Given the description of an element on the screen output the (x, y) to click on. 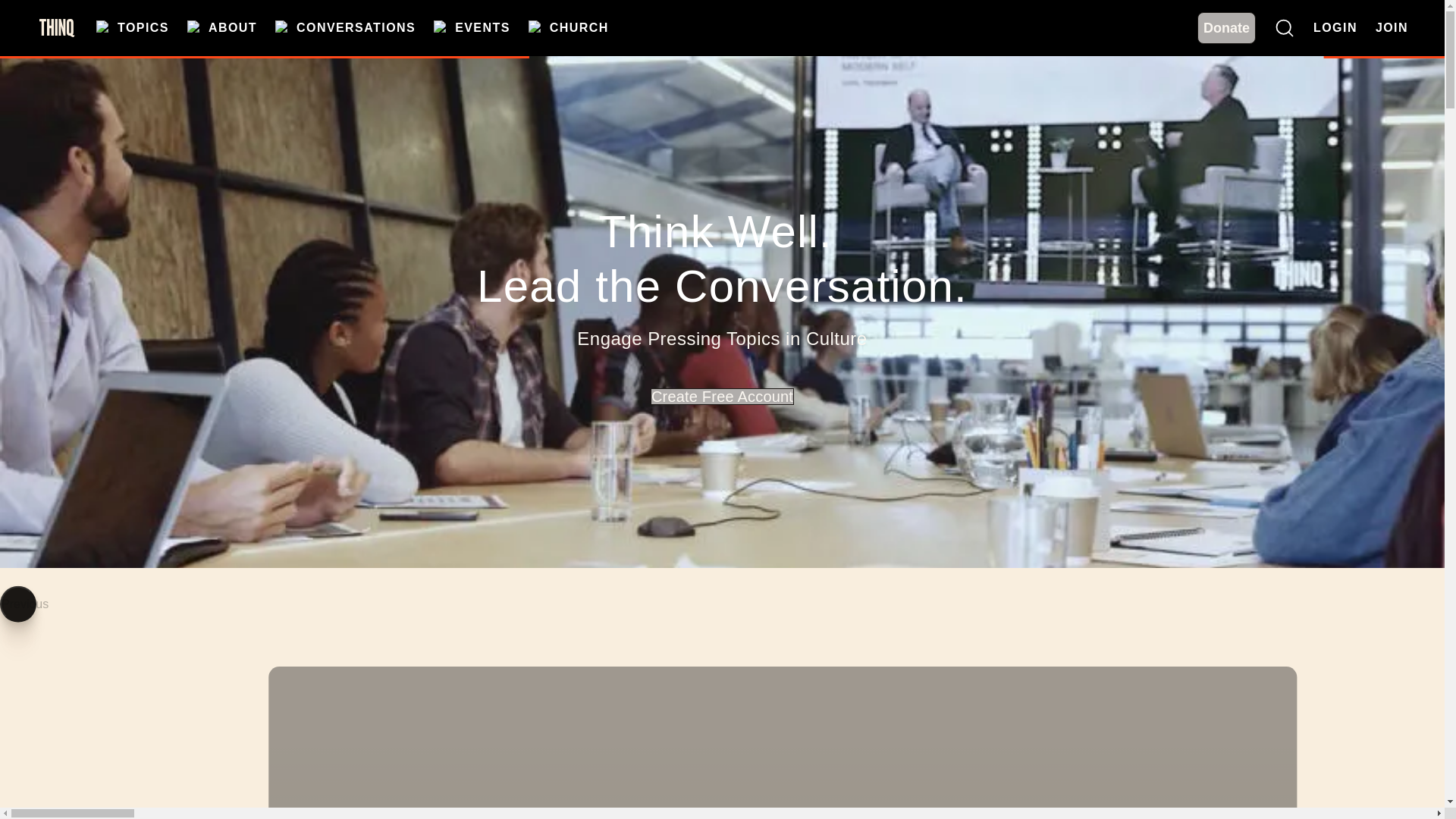
CHURCH (568, 28)
Create Free Account (721, 396)
LOGIN (1334, 27)
ABOUT (222, 28)
CONVERSATIONS (344, 28)
Donate (1225, 28)
JOIN (1391, 27)
TOPICS (132, 28)
EVENTS (472, 28)
Previous (18, 603)
